Given the description of an element on the screen output the (x, y) to click on. 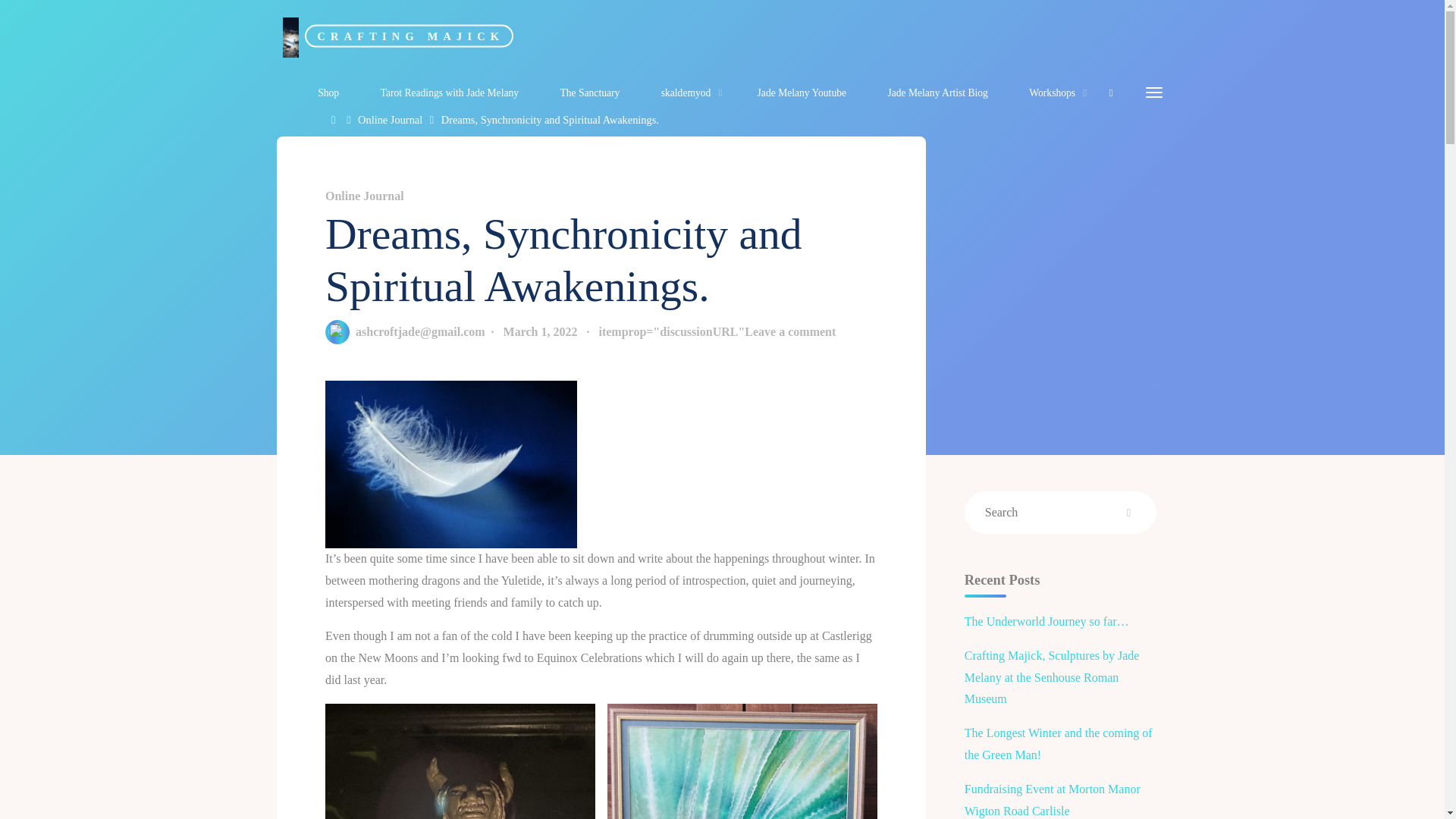
Crafting Majick (290, 35)
Jump to comments (716, 332)
Jade Melany Artist Biog (937, 92)
Jade Melany Youtube (801, 92)
Workshops (1054, 92)
skaldemyod (688, 92)
Artistic creativity at its finest. (408, 35)
Shop (328, 92)
The Sanctuary (589, 92)
Home (334, 119)
